Given the description of an element on the screen output the (x, y) to click on. 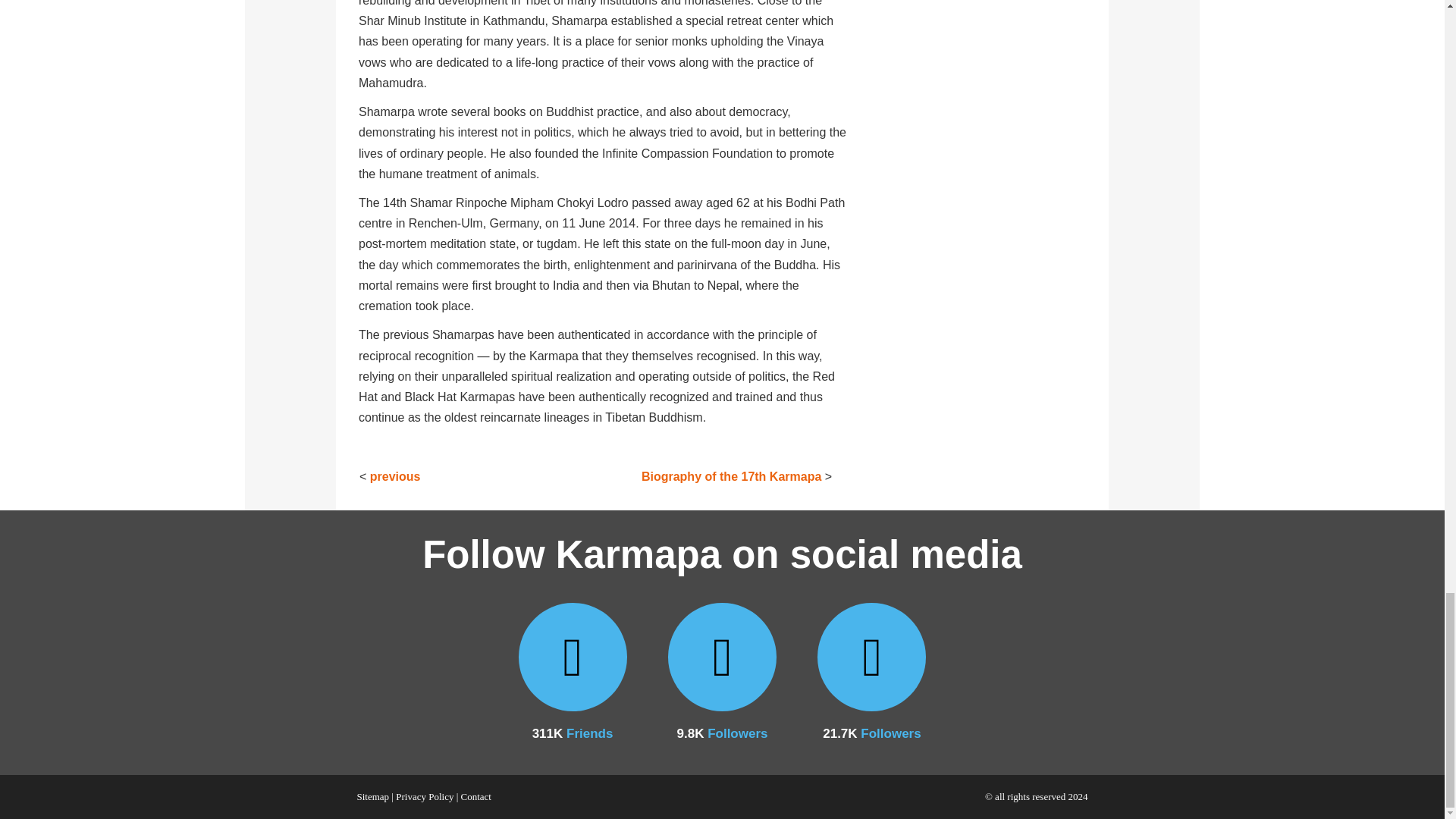
Biography of the 17th Karmapa (731, 476)
previous (394, 476)
